Given the description of an element on the screen output the (x, y) to click on. 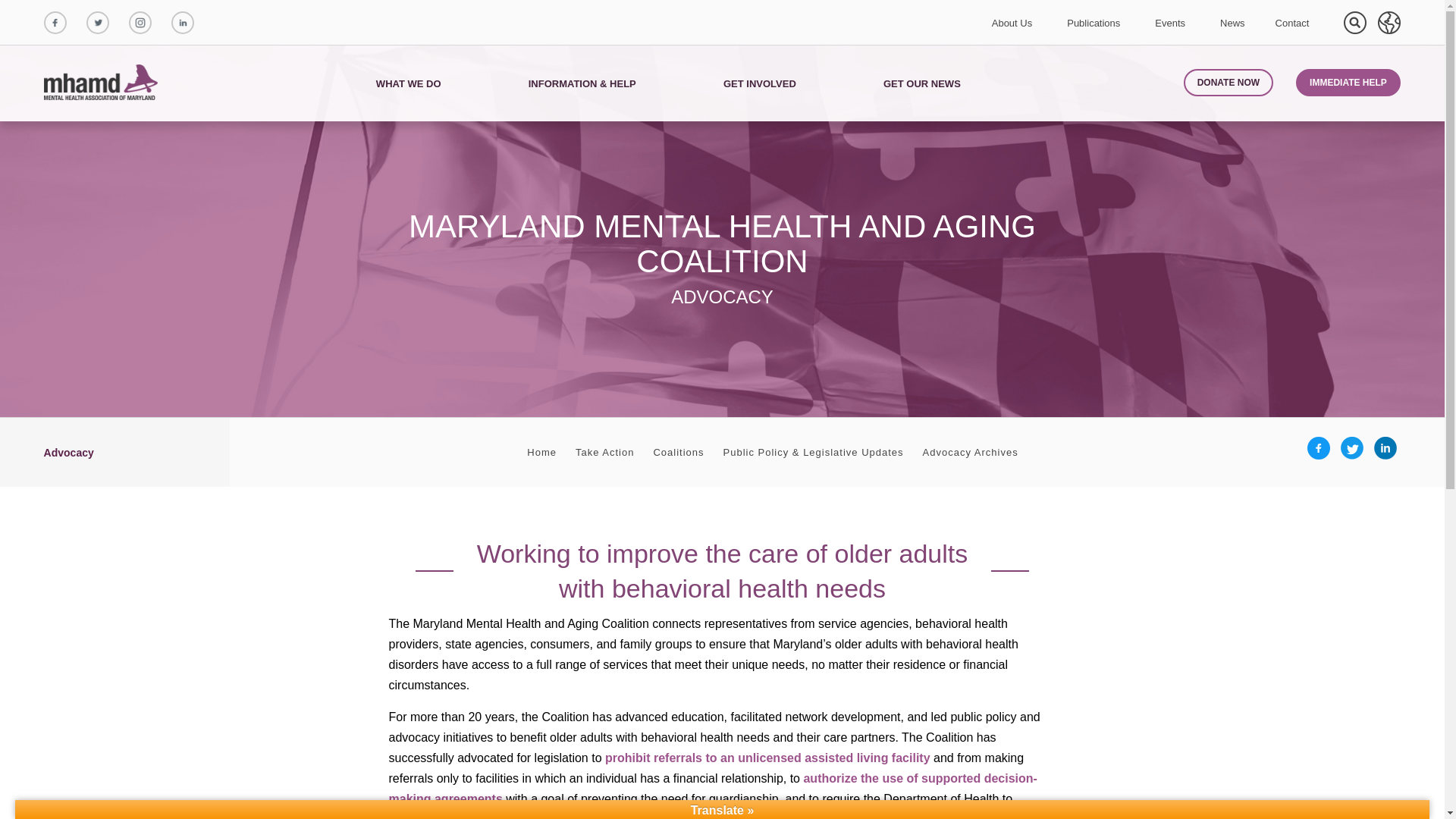
Mental Health Association of Maryland (102, 83)
Publications (1093, 22)
